Given the description of an element on the screen output the (x, y) to click on. 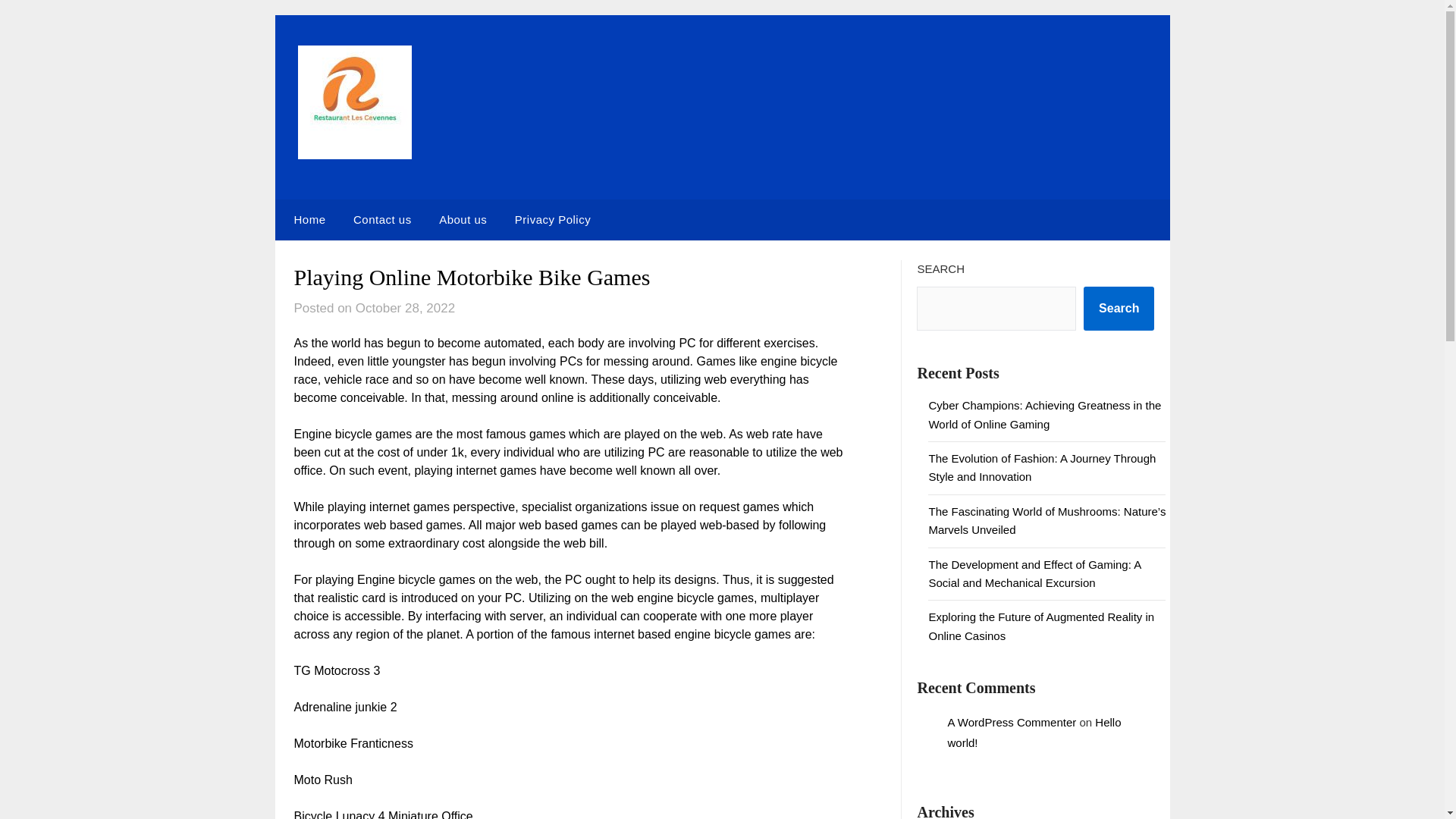
Search (1118, 308)
Privacy Policy (552, 219)
Contact us (381, 219)
A WordPress Commenter (1011, 721)
About us (462, 219)
Home (306, 219)
Exploring the Future of Augmented Reality in Online Casinos (1041, 625)
